Given the description of an element on the screen output the (x, y) to click on. 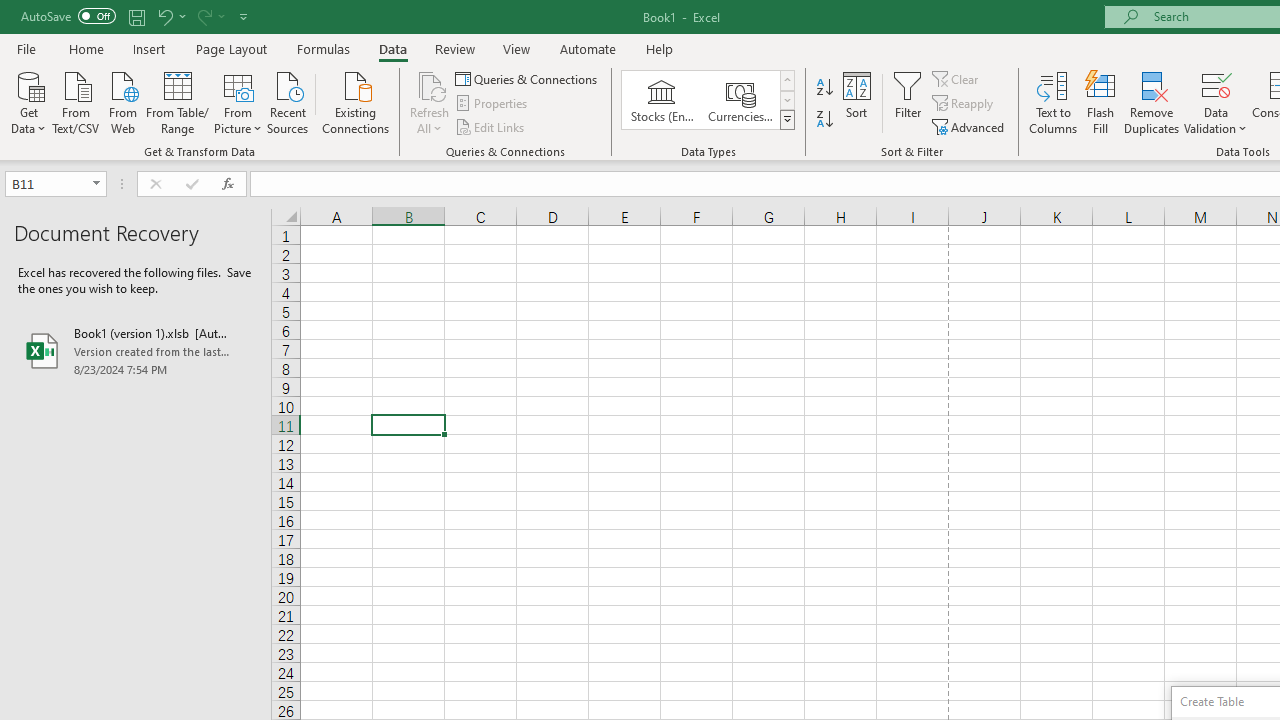
Data Validation... (1215, 84)
Automate (588, 48)
Recent Sources (287, 101)
AutomationID: ConvertToLinkedEntity (708, 99)
AutoSave (68, 16)
Row Down (786, 100)
From Text/CSV (75, 101)
